Given the description of an element on the screen output the (x, y) to click on. 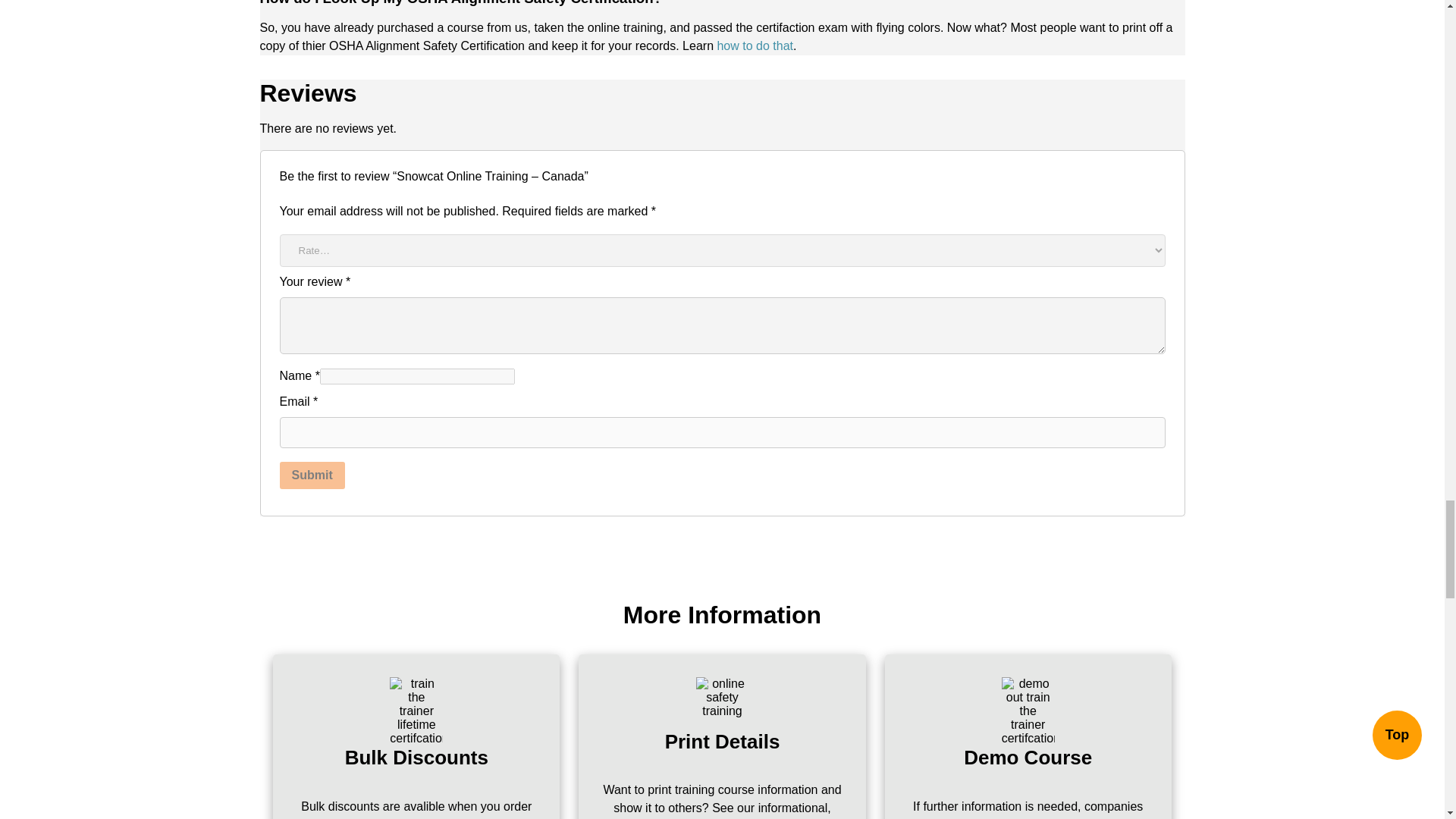
Submit (311, 474)
